Given the description of an element on the screen output the (x, y) to click on. 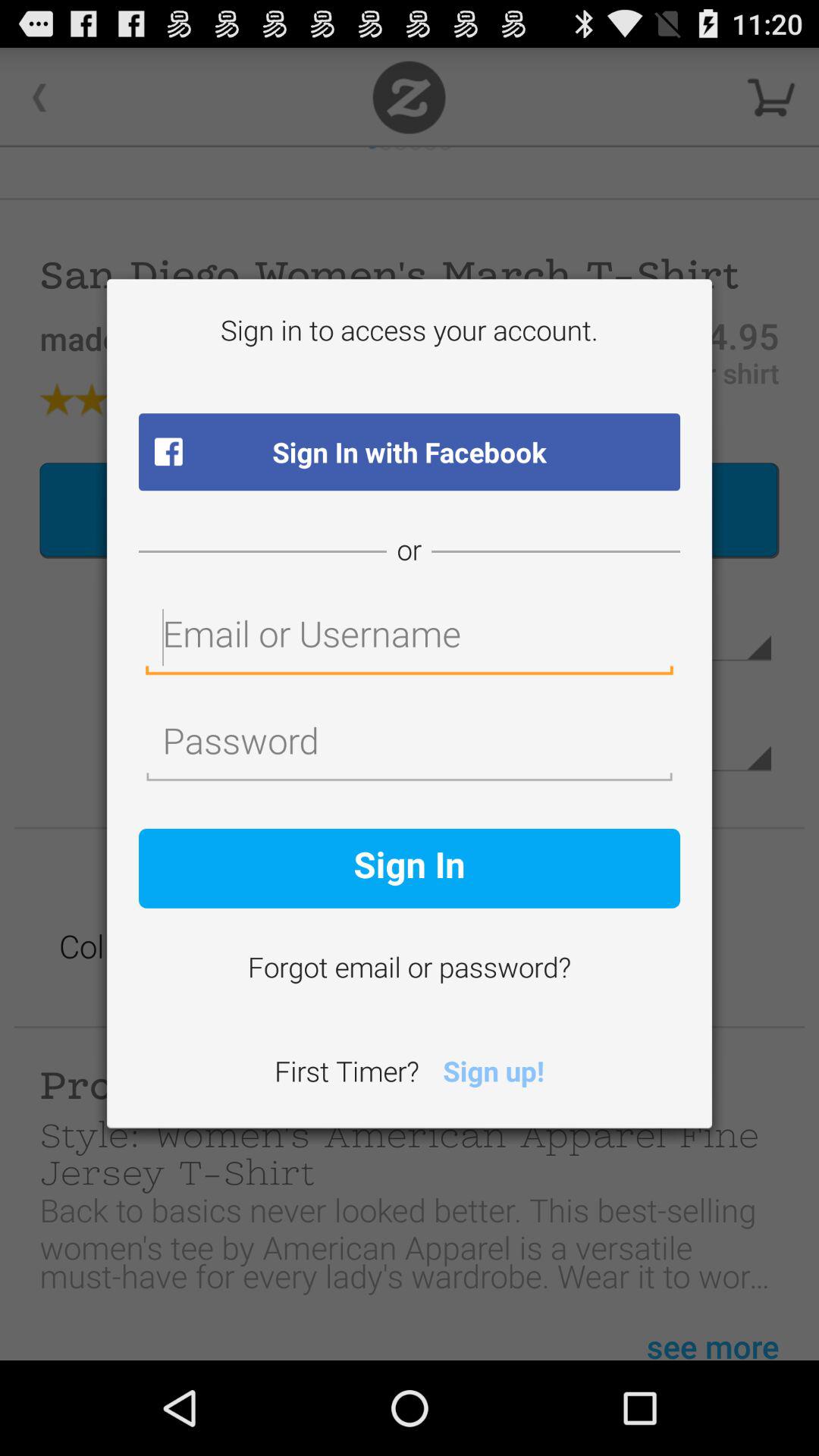
launch sign up! (493, 1073)
